Given the description of an element on the screen output the (x, y) to click on. 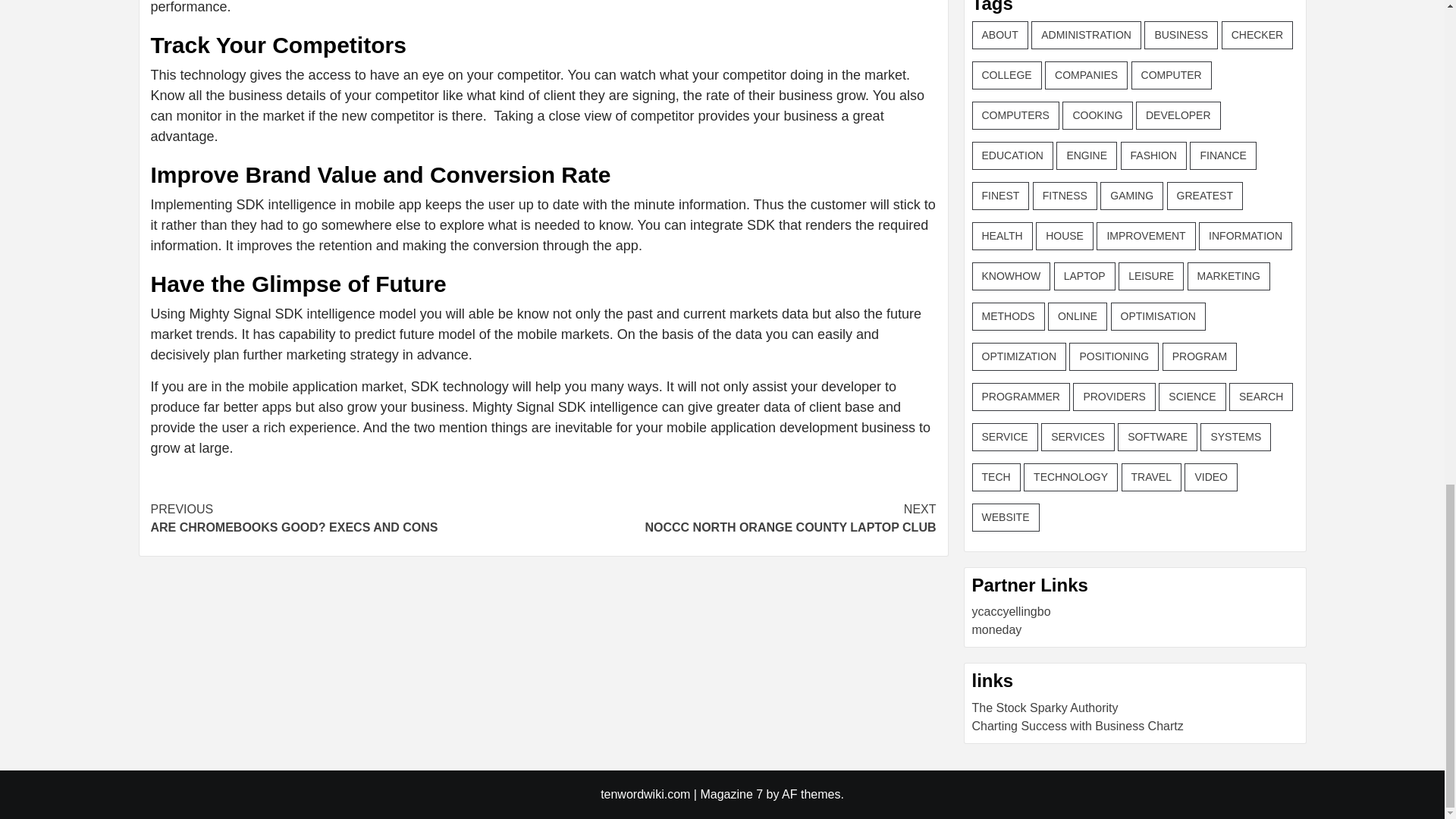
BUSINESS (1180, 35)
ABOUT (999, 35)
CHECKER (346, 518)
ADMINISTRATION (1256, 35)
